Given the description of an element on the screen output the (x, y) to click on. 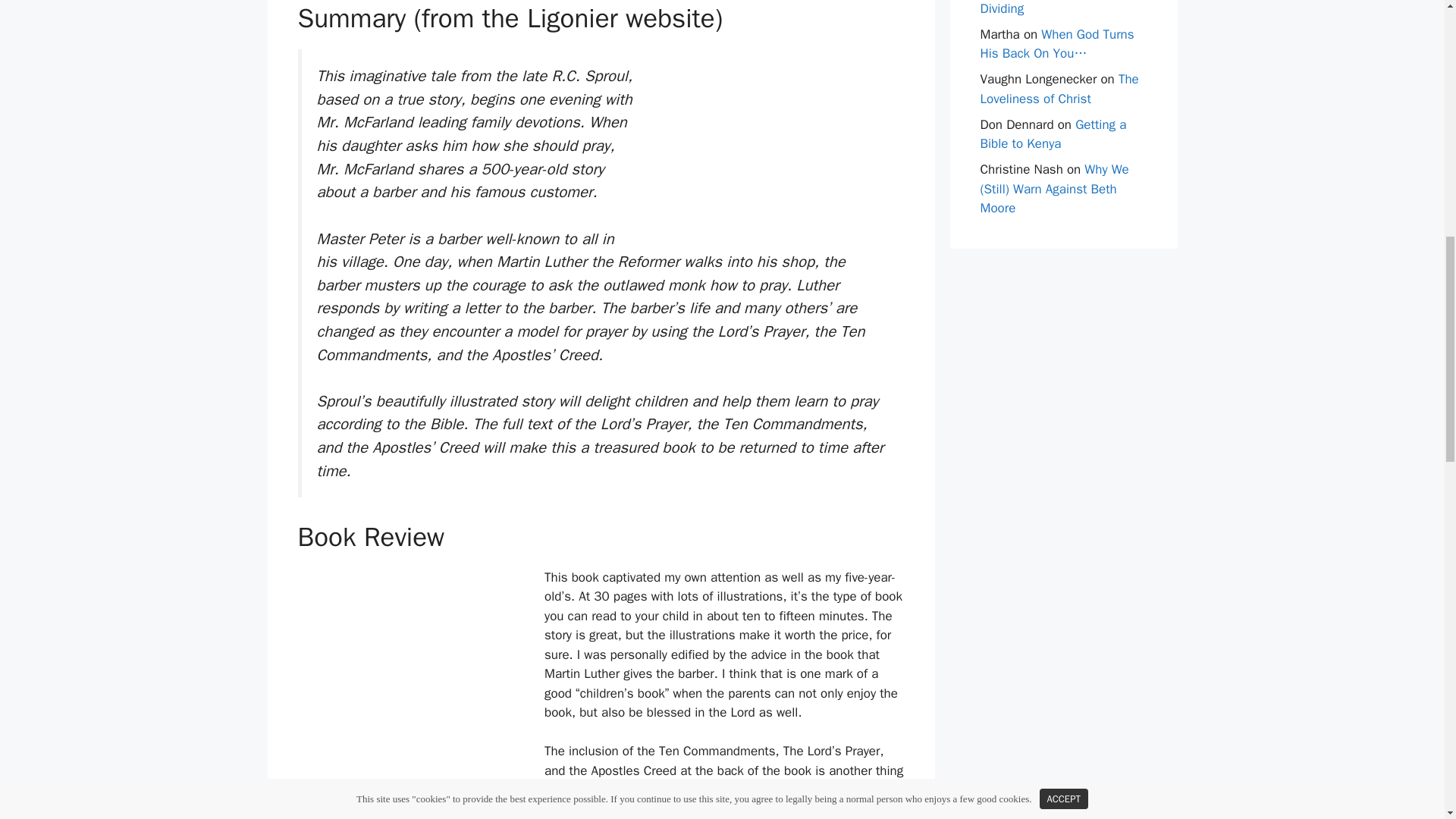
Scroll back to top (1406, 720)
